Given the description of an element on the screen output the (x, y) to click on. 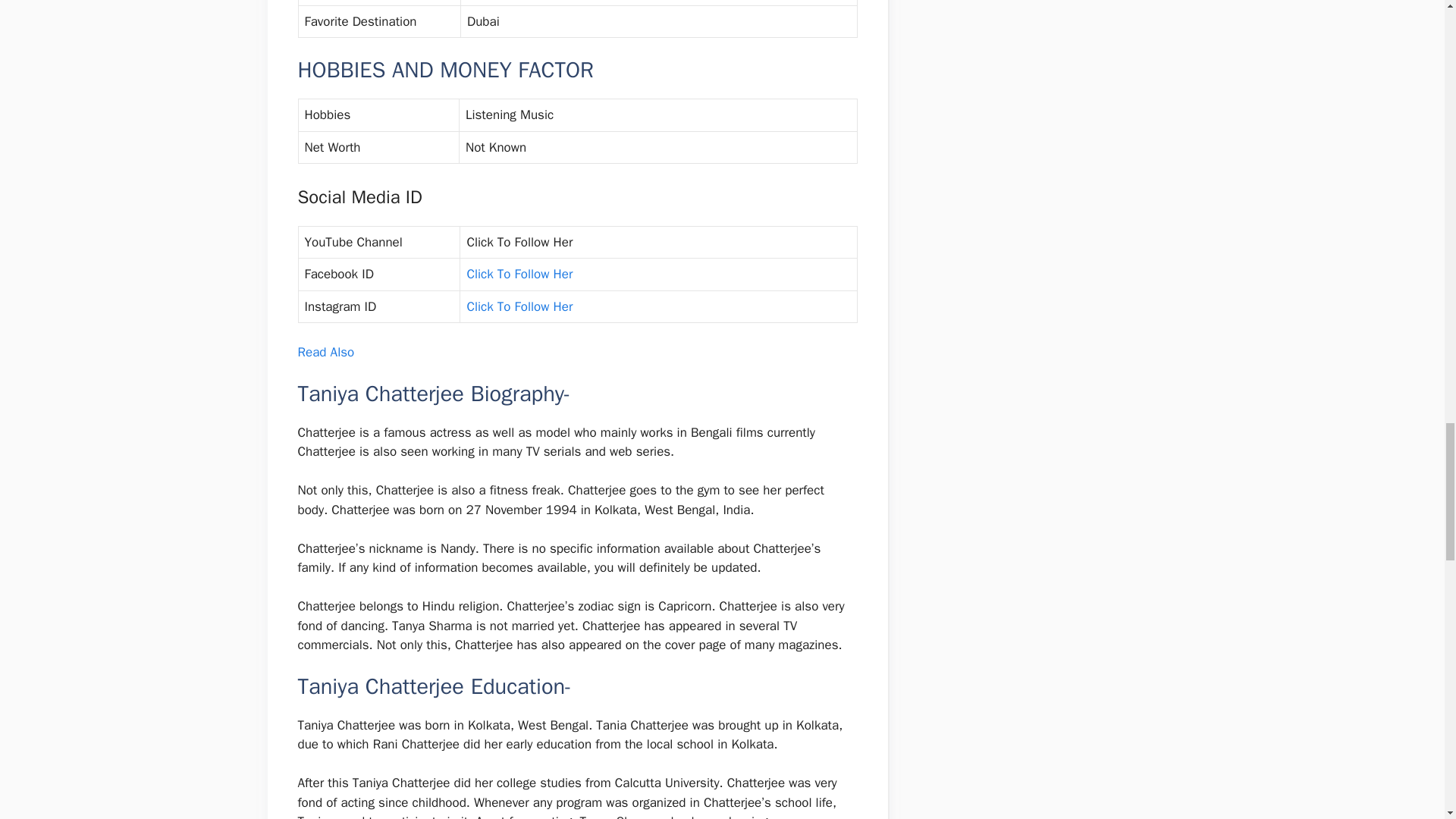
Click To Follow Her (518, 273)
Click To Follow Her (518, 306)
Read Also  (327, 351)
